Given the description of an element on the screen output the (x, y) to click on. 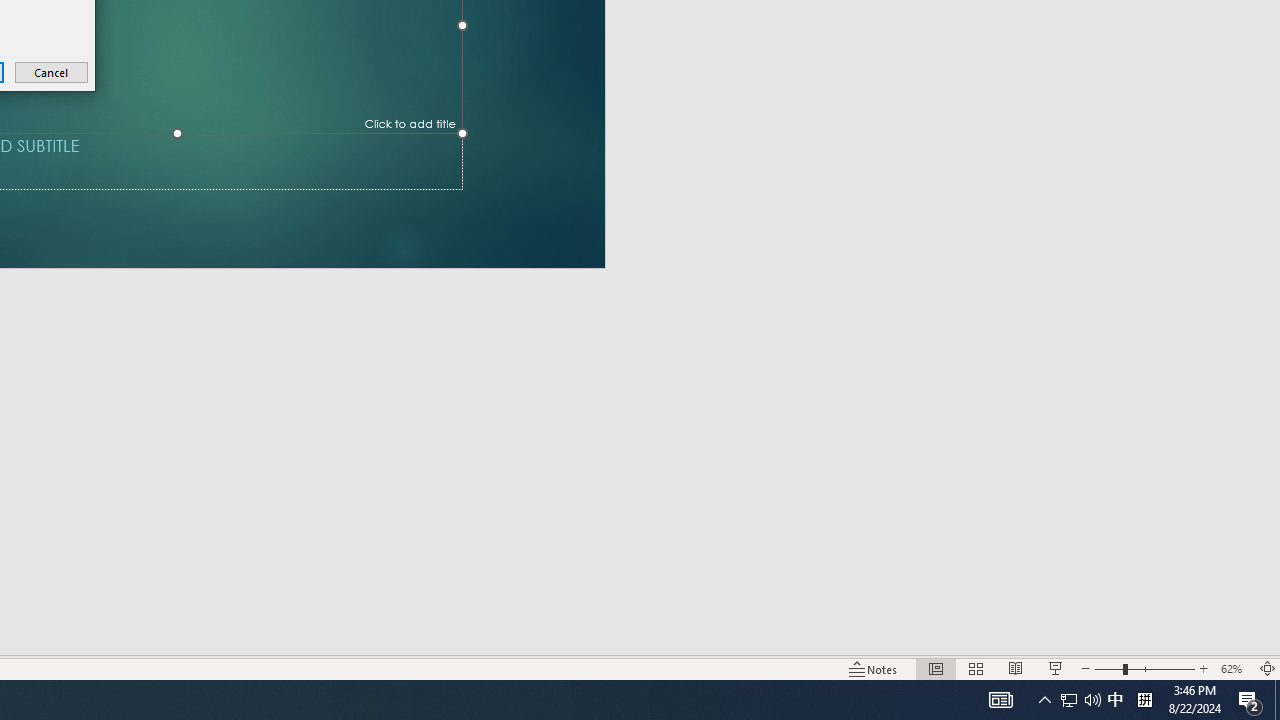
Zoom 62% (1234, 668)
Cancel (51, 72)
